Given the description of an element on the screen output the (x, y) to click on. 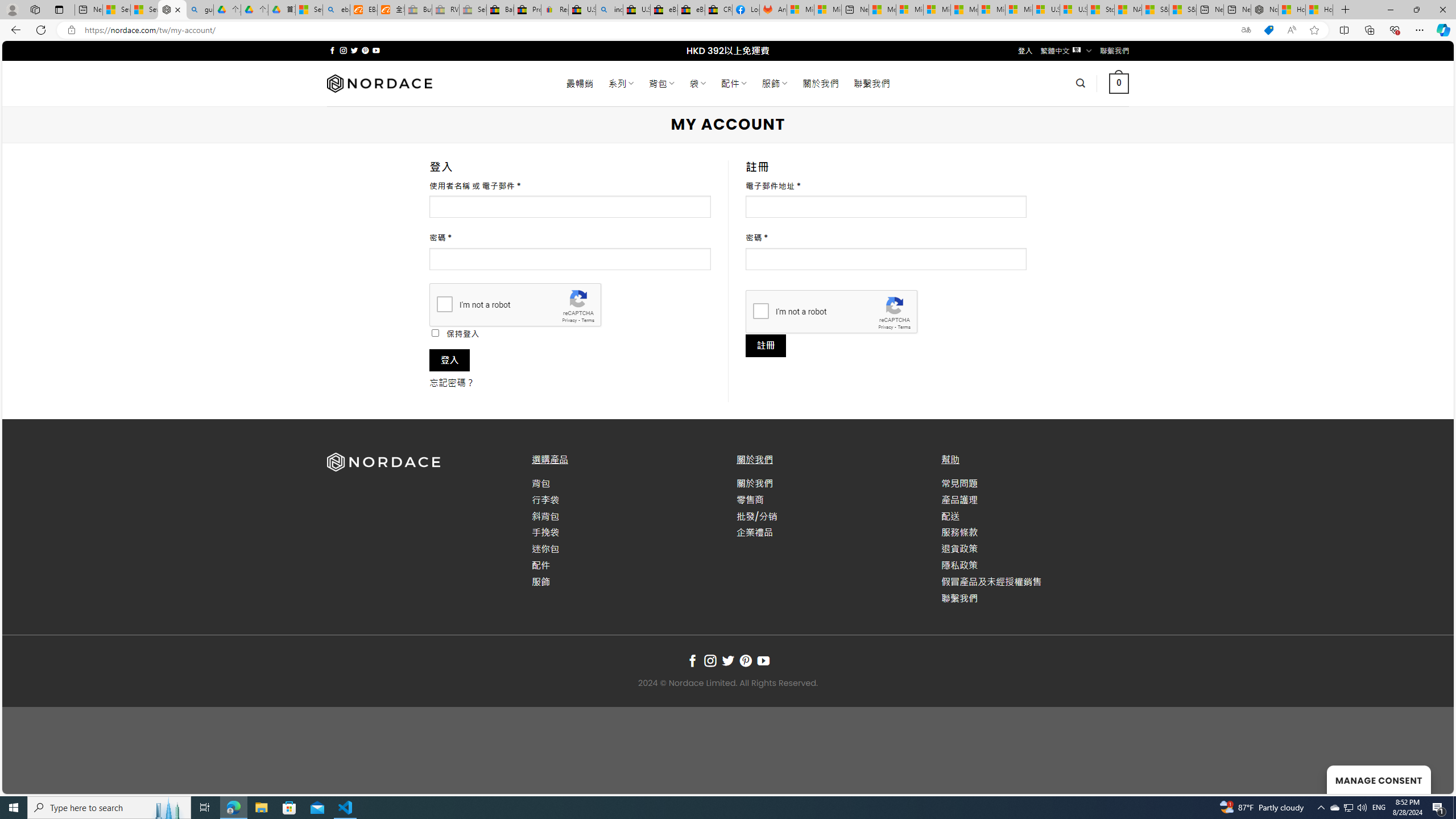
Press Room - eBay Inc. (527, 9)
Register: Create a personal eBay account (554, 9)
Follow on YouTube (763, 660)
